Given the description of an element on the screen output the (x, y) to click on. 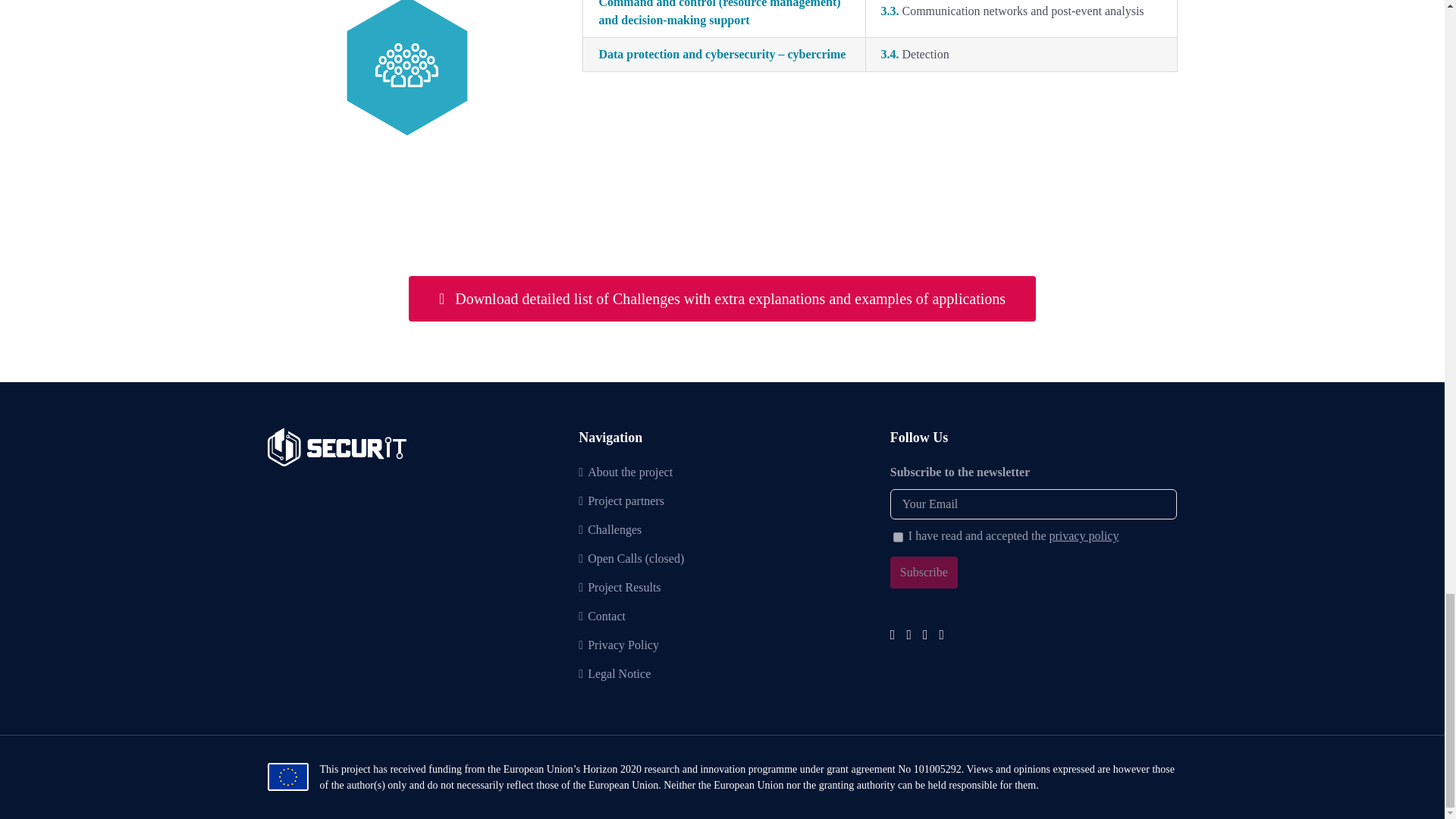
Project Results (723, 587)
1 (897, 537)
Subscribe (923, 572)
Contact (723, 616)
Challenges (723, 529)
About the project (723, 472)
Subscribe (923, 572)
Legal Notice (723, 674)
privacy policy (1083, 535)
Privacy Policy (723, 645)
challenge-pic-3-2 (406, 67)
Project partners (723, 501)
